Given the description of an element on the screen output the (x, y) to click on. 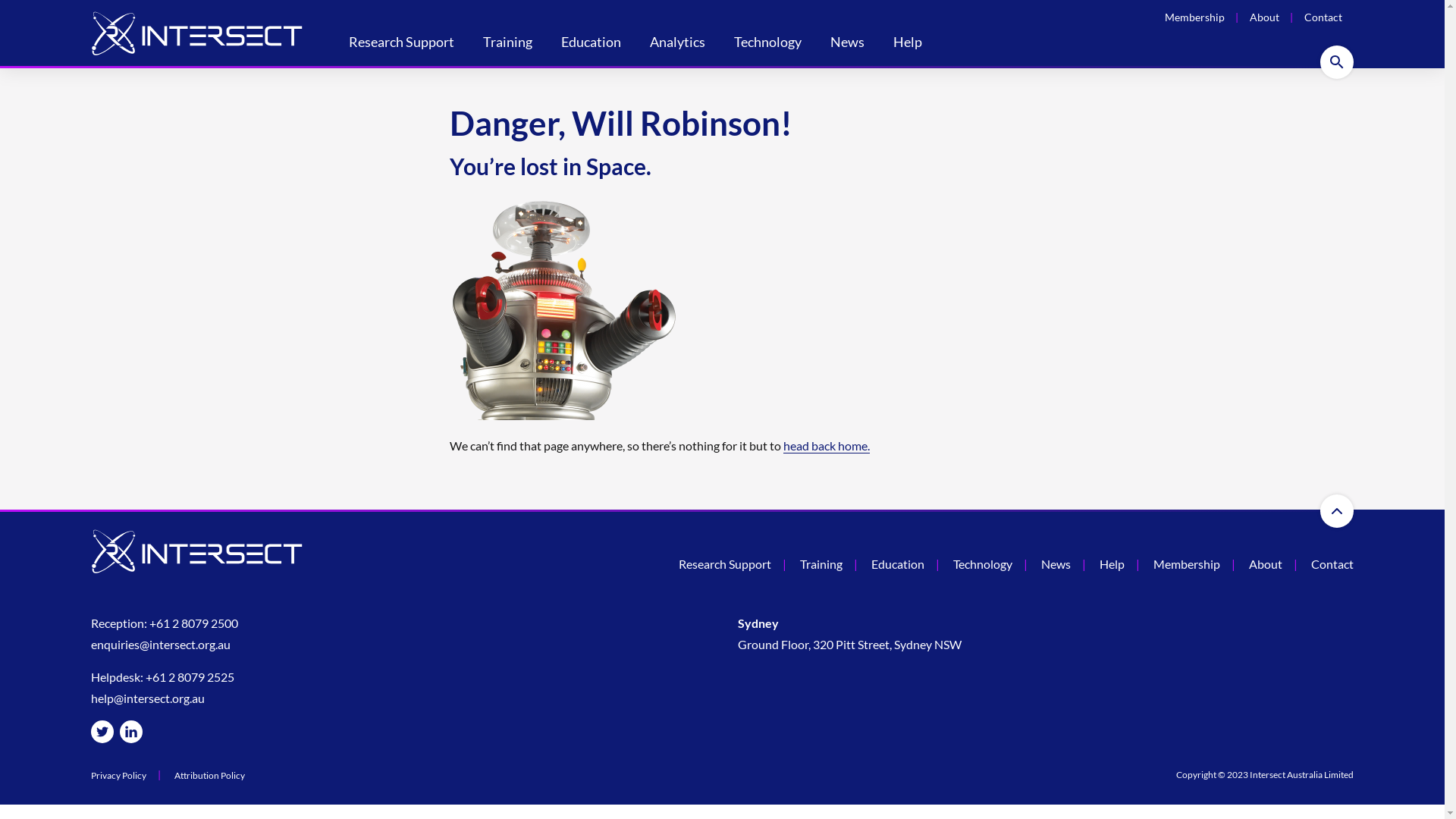
Technology Element type: text (767, 43)
Training Element type: text (507, 43)
Privacy Policy Element type: text (118, 775)
About Element type: text (1264, 16)
Contact Element type: text (1323, 16)
Analytics Element type: text (677, 43)
+61 2 8079 2500 Element type: text (193, 622)
Help Element type: text (907, 43)
head back home. Element type: text (825, 445)
Contact Element type: text (1332, 563)
Membership Element type: text (1194, 16)
+61 2 8079 2525 Element type: text (189, 676)
Technology Element type: text (982, 563)
Help Element type: text (1111, 563)
News Element type: text (847, 43)
About Element type: text (1265, 563)
Membership Element type: text (1186, 563)
Research Support Element type: text (401, 43)
help@intersect.org.au Element type: text (147, 698)
Education Element type: text (591, 43)
Training Element type: text (821, 563)
enquiries@intersect.org.au Element type: text (160, 644)
News Element type: text (1055, 563)
Attribution Policy Element type: text (209, 775)
Research Support Element type: text (724, 563)
Education Element type: text (897, 563)
